Given the description of an element on the screen output the (x, y) to click on. 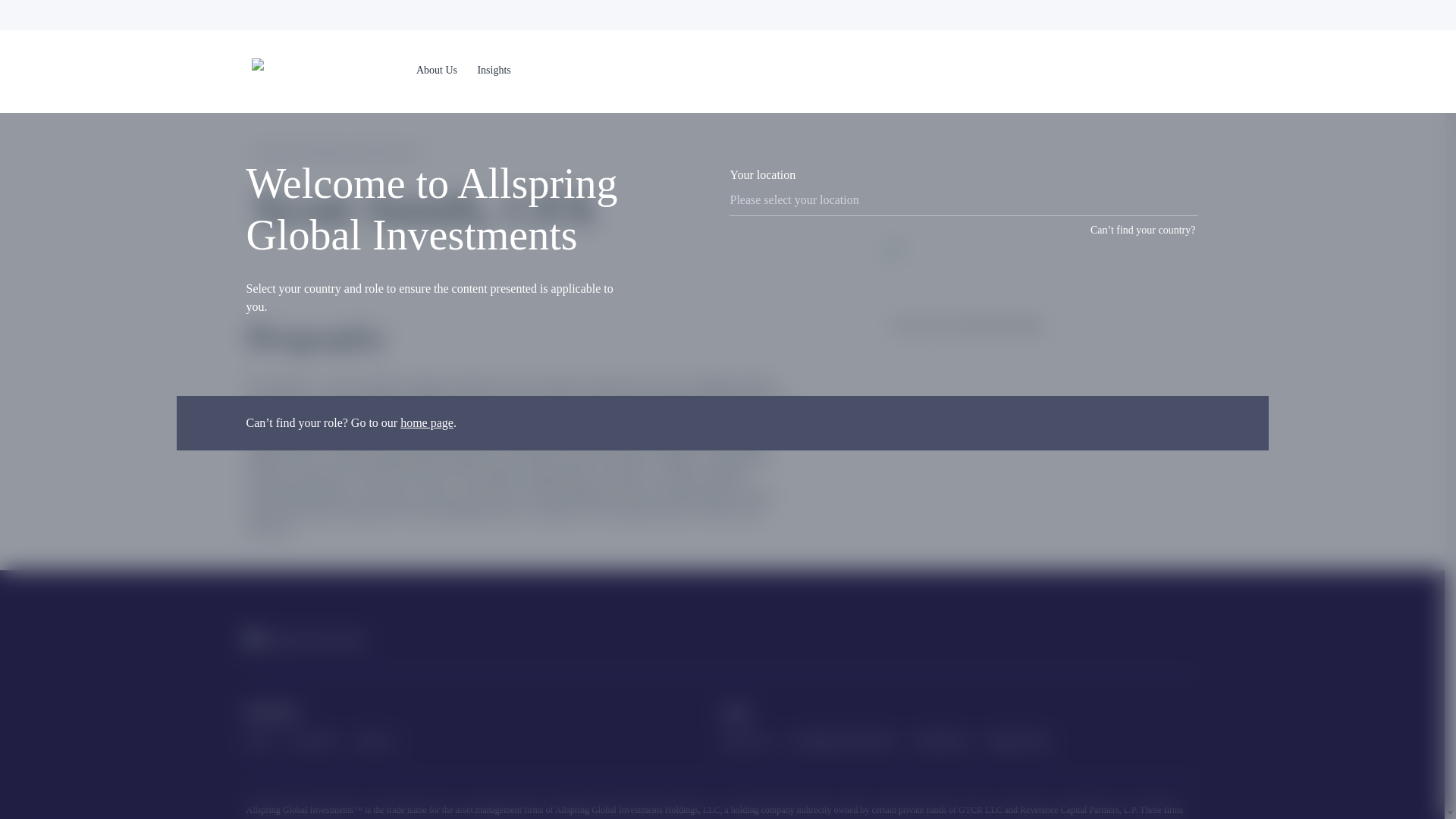
Insights (493, 71)
Insights (494, 69)
Careers (259, 740)
About Us (437, 71)
Luxembourg UCITS Policies (842, 740)
LinkedIn (1018, 639)
About Us (432, 71)
Instagram (1061, 639)
Podcast on Spotify (1146, 639)
Apple Podcasts (1188, 639)
Please select your location (963, 200)
About Us (436, 69)
Insights (494, 71)
Contact Us (373, 740)
YouTube (1103, 639)
